Given the description of an element on the screen output the (x, y) to click on. 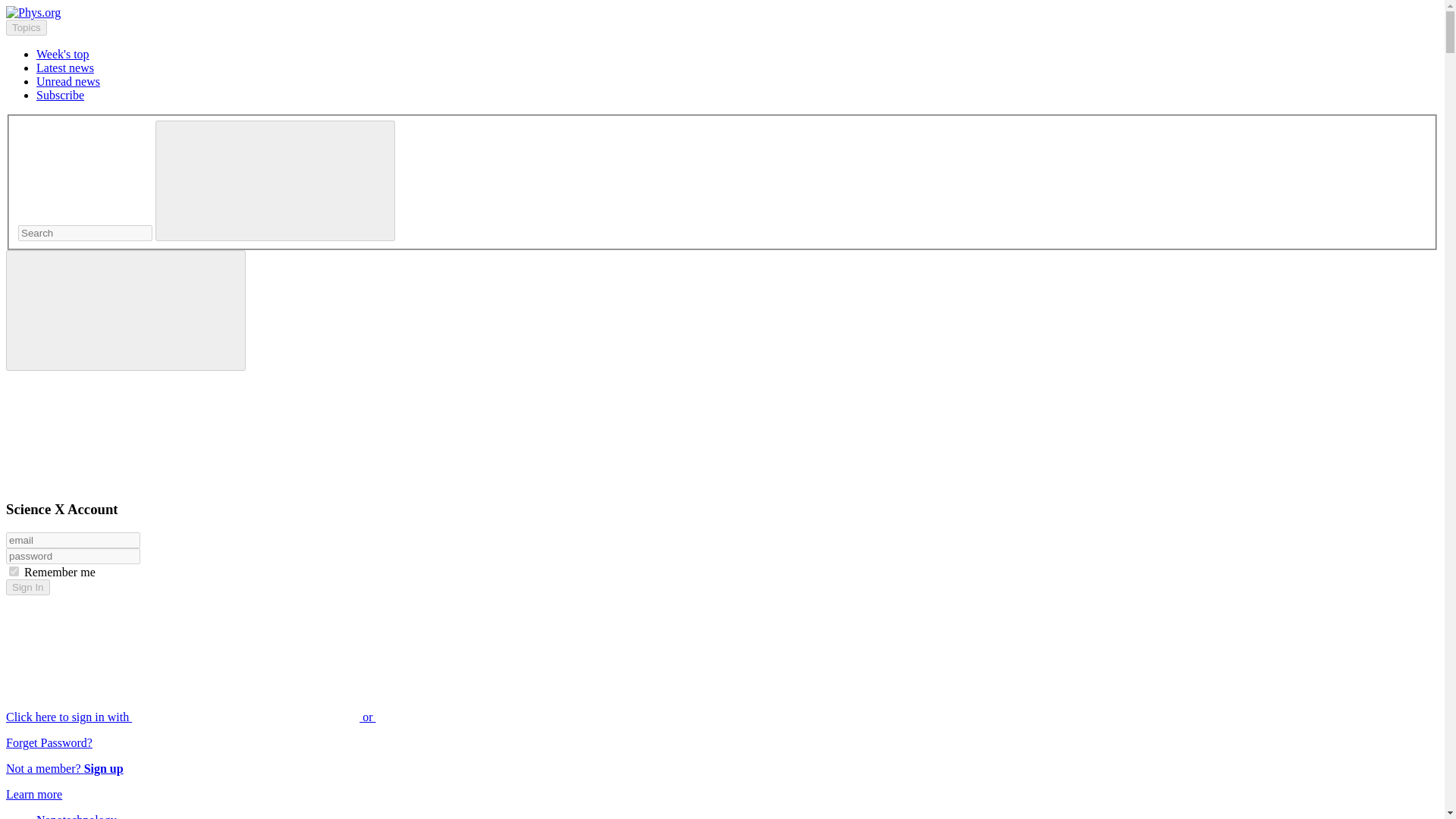
Topics (25, 27)
Learn more (33, 793)
Click here to sign in with or (304, 716)
Not a member? Sign up (64, 768)
Forget Password? (49, 742)
Subscribe (60, 94)
Latest news (65, 67)
on (13, 571)
Nanotechnology (76, 816)
Week's top (62, 53)
Unread news (68, 81)
Sign In (27, 587)
